Given the description of an element on the screen output the (x, y) to click on. 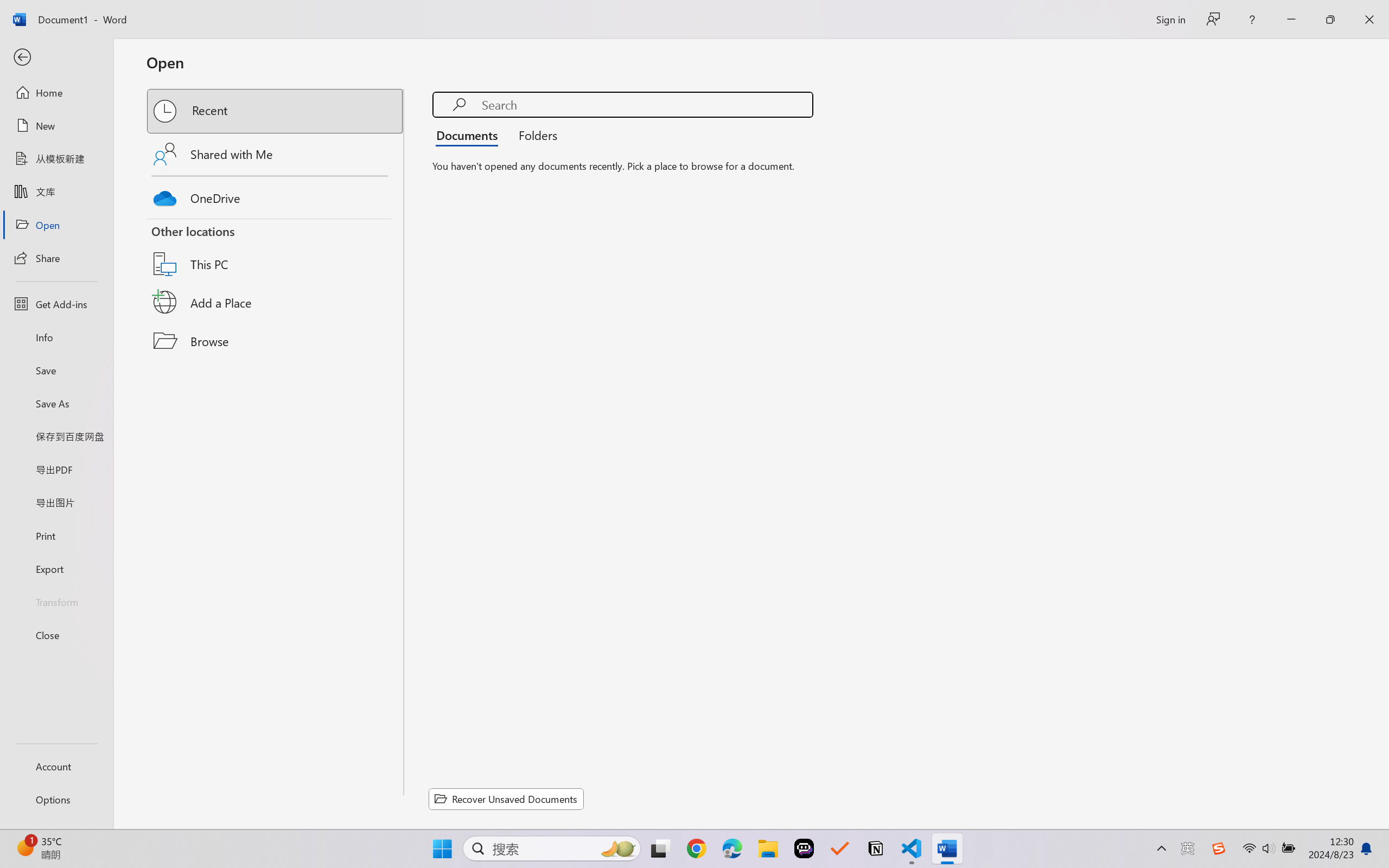
Shared with Me (275, 153)
Info (56, 337)
Recover Unsaved Documents (506, 798)
Documents (469, 134)
Get Add-ins (56, 303)
Export (56, 568)
